Given the description of an element on the screen output the (x, y) to click on. 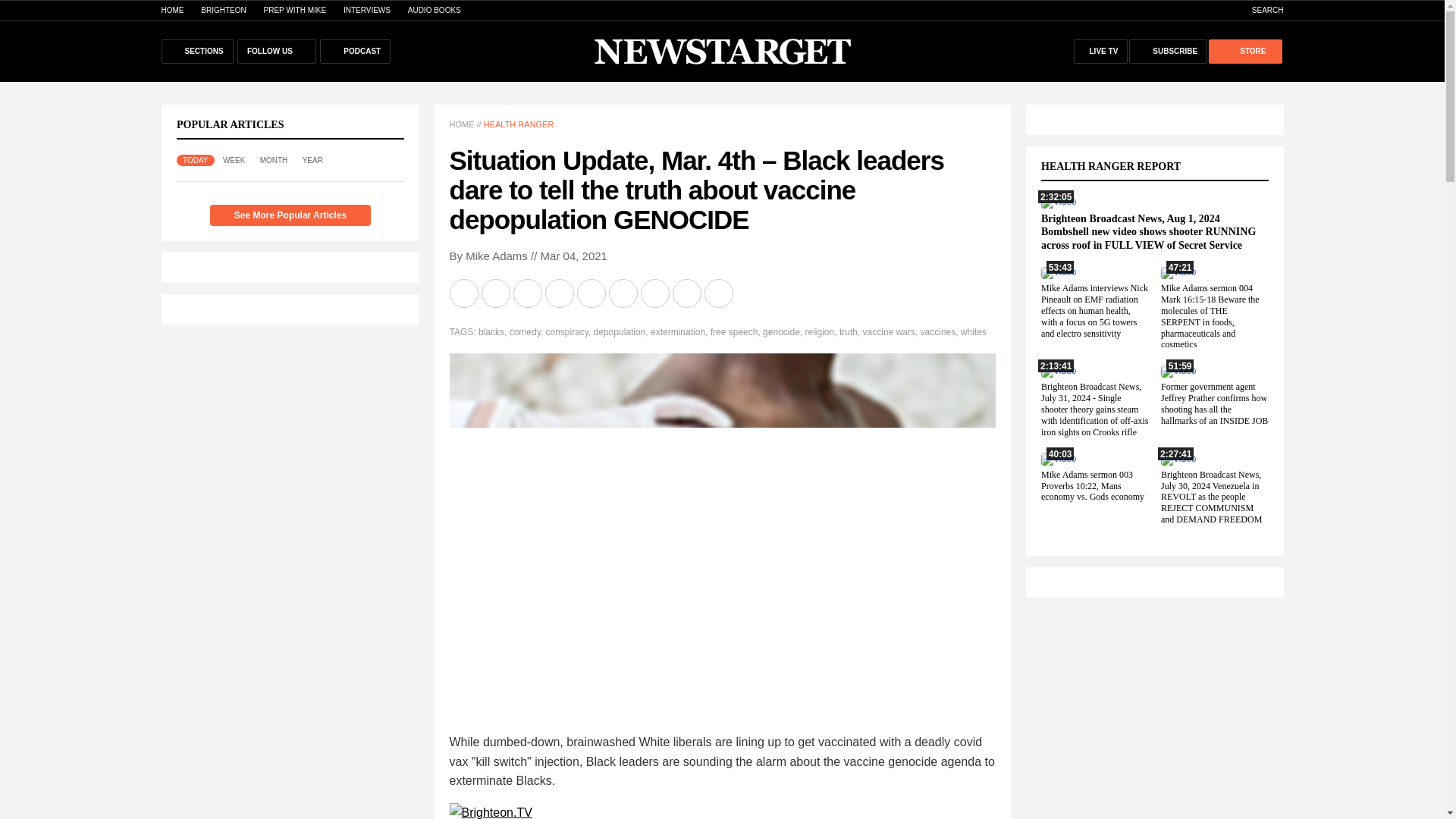
47:21 (1177, 271)
Share on Facebook (496, 293)
INTERVIEWS (366, 9)
Share on GAB (592, 293)
See More Popular Articles (289, 215)
Share on Telegram (560, 293)
SEARCH (1260, 9)
HEALTH RANGER REPORT (1119, 165)
By Mike Adams (487, 255)
2:32:05 (1058, 201)
51:59 (1177, 370)
